Given the description of an element on the screen output the (x, y) to click on. 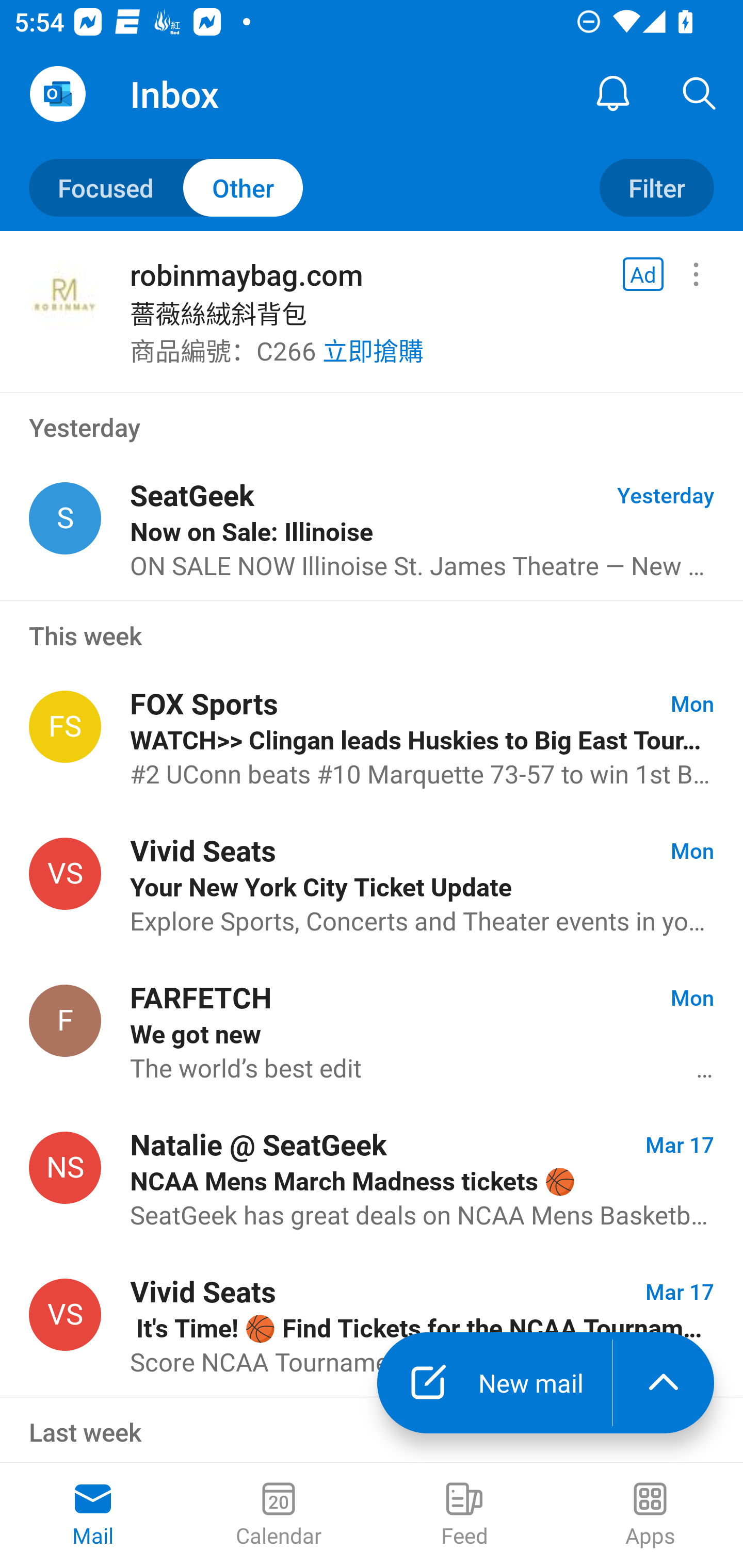
Notification Center (612, 93)
Search, ,  (699, 93)
Open Navigation Drawer (57, 94)
Toggle to Focused Inbox (165, 187)
Filter (656, 187)
Ad options menu button (695, 274)
Ad (642, 274)
SeatGeek, events@seatgeek.com (64, 518)
FOX Sports, email@inbox.foxsports.com (64, 726)
Vivid Seats, tickets@live.vividseats.com (64, 873)
FARFETCH, farfetch@email.farfetch.com (64, 1020)
Natalie @ SeatGeek, events@seatgeek.com (64, 1168)
Vivid Seats, tickets@live.vividseats.com (64, 1314)
New mail (494, 1382)
launch the extended action menu (663, 1382)
Calendar (278, 1515)
Feed (464, 1515)
Apps (650, 1515)
